Given the description of an element on the screen output the (x, y) to click on. 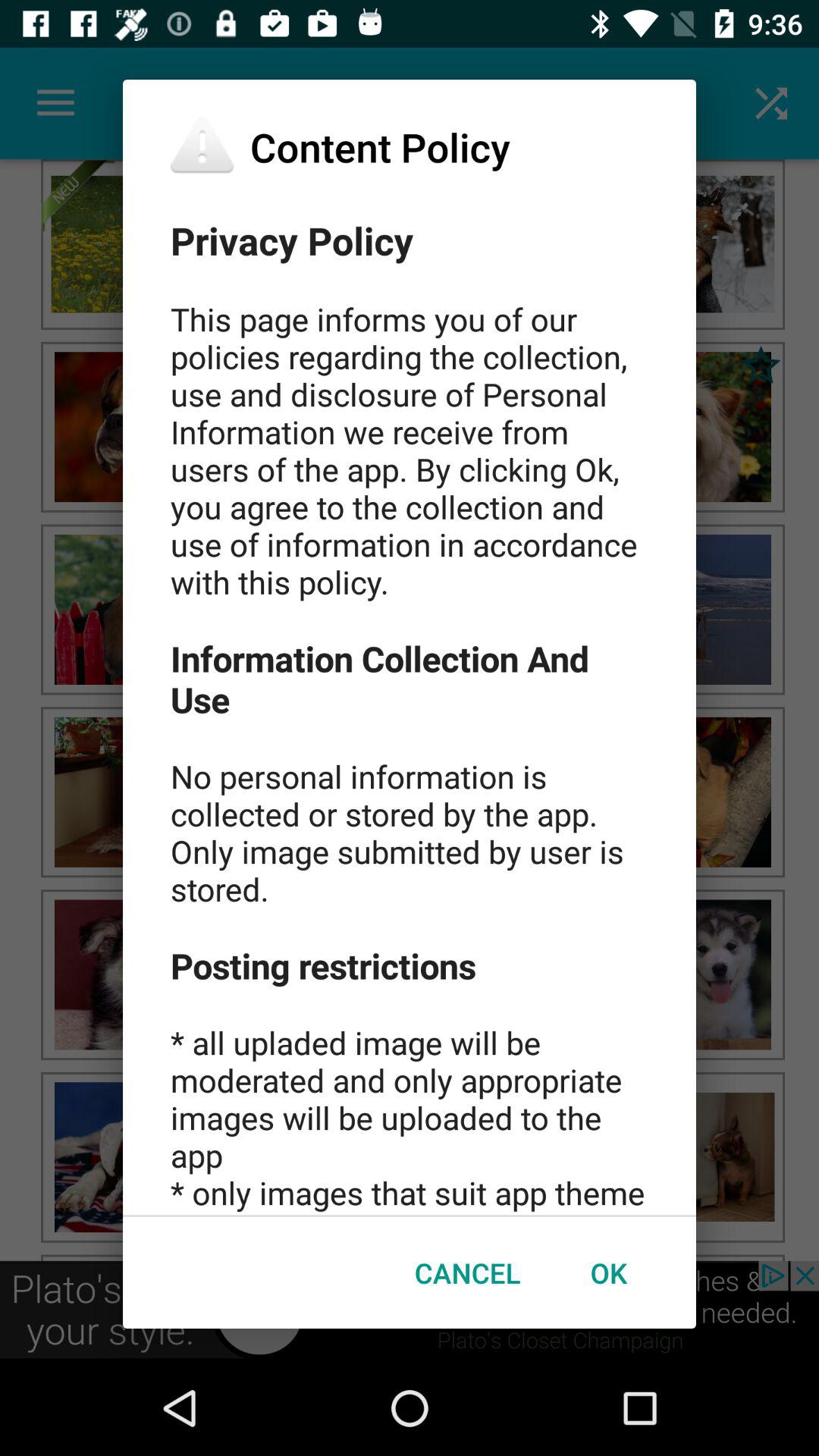
choose icon next to ok icon (467, 1272)
